Given the description of an element on the screen output the (x, y) to click on. 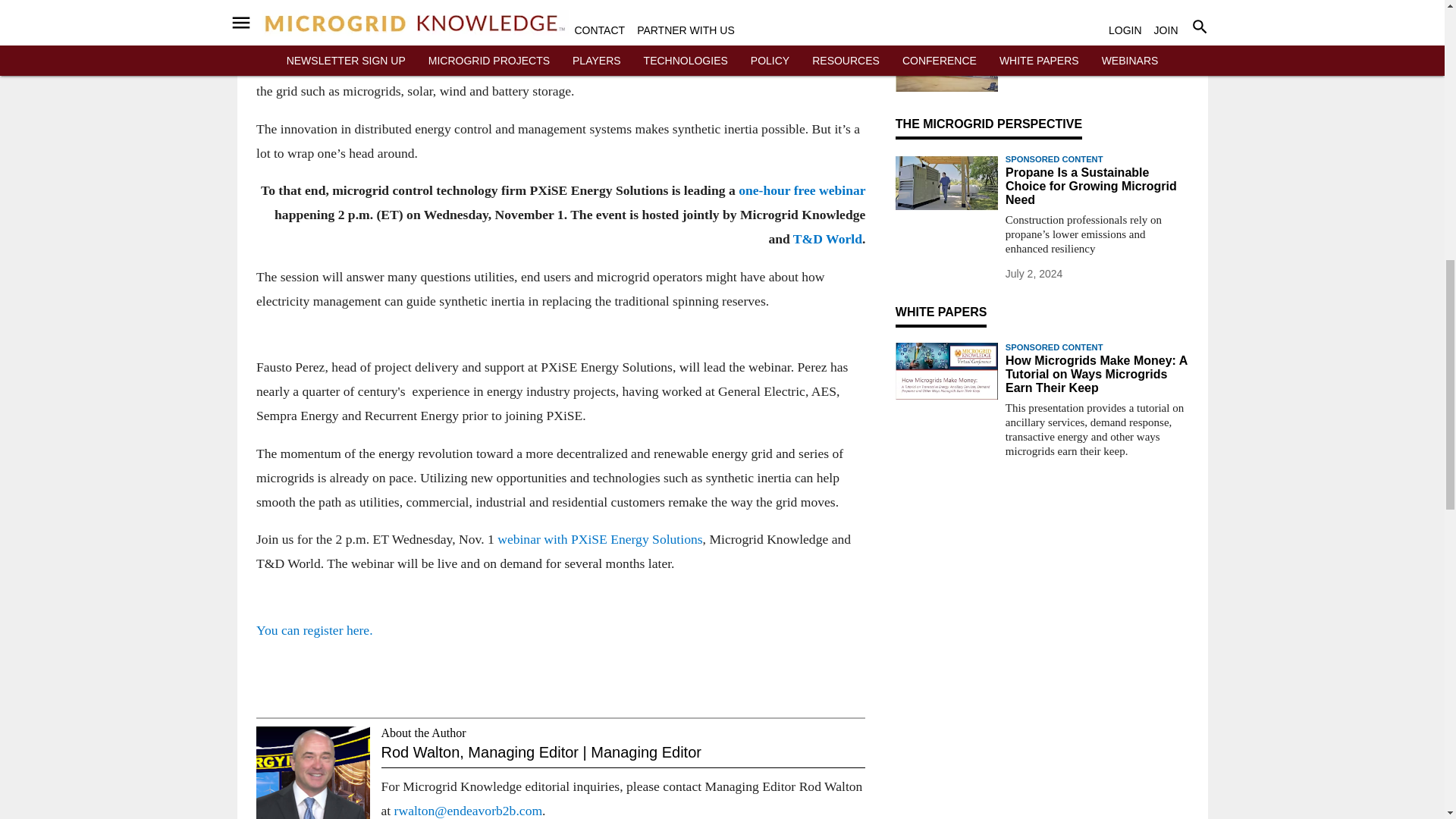
Pxise (946, 63)
Solar panels on Oregon farm (946, 11)
Making Money with Microgrids (946, 371)
